Given the description of an element on the screen output the (x, y) to click on. 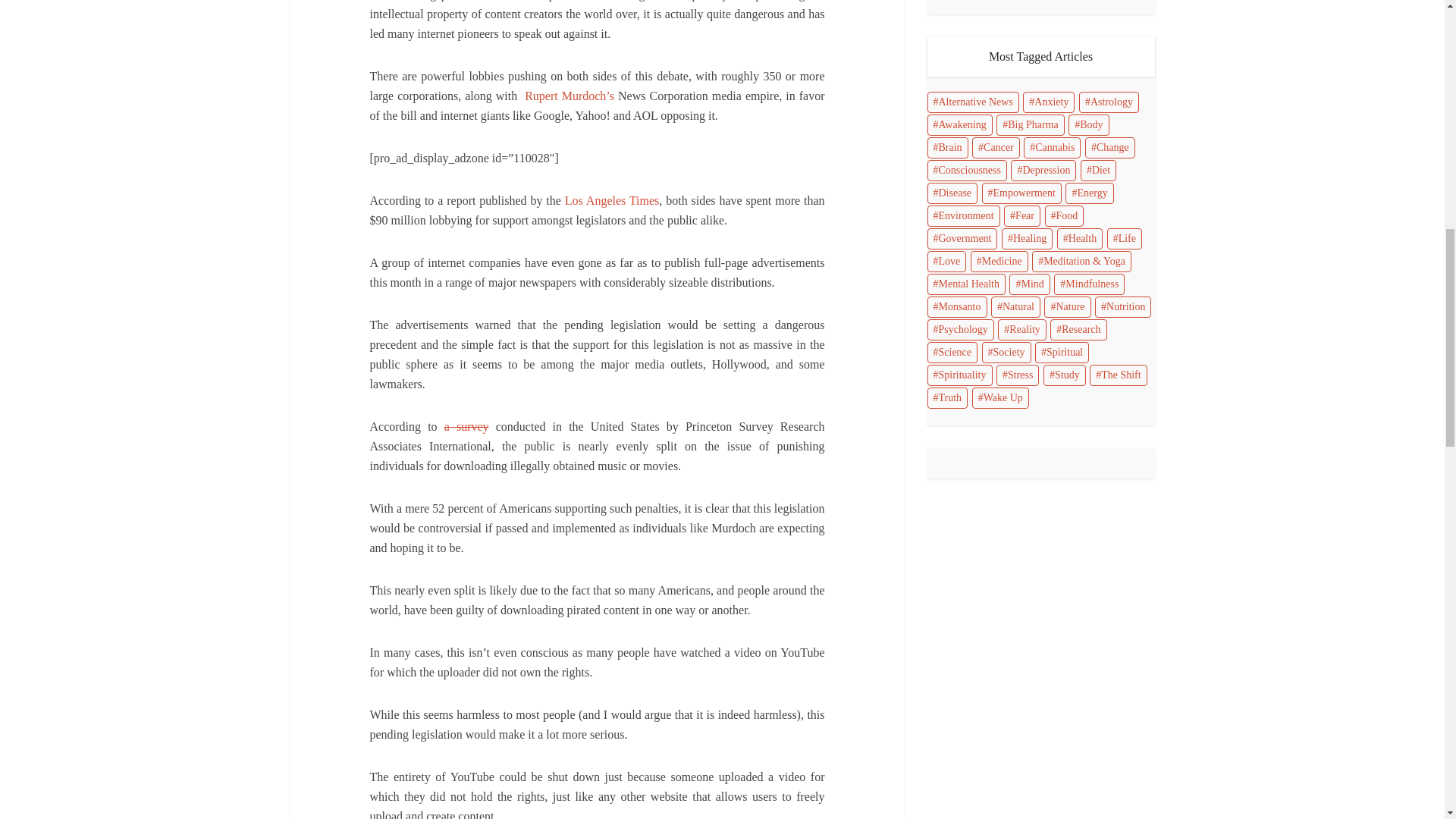
Piracy legislation pits Hollywood against Silicon Valley (611, 200)
Rupert Murdoch Lobbies Congress To Restrict Internet (569, 95)
